Given the description of an element on the screen output the (x, y) to click on. 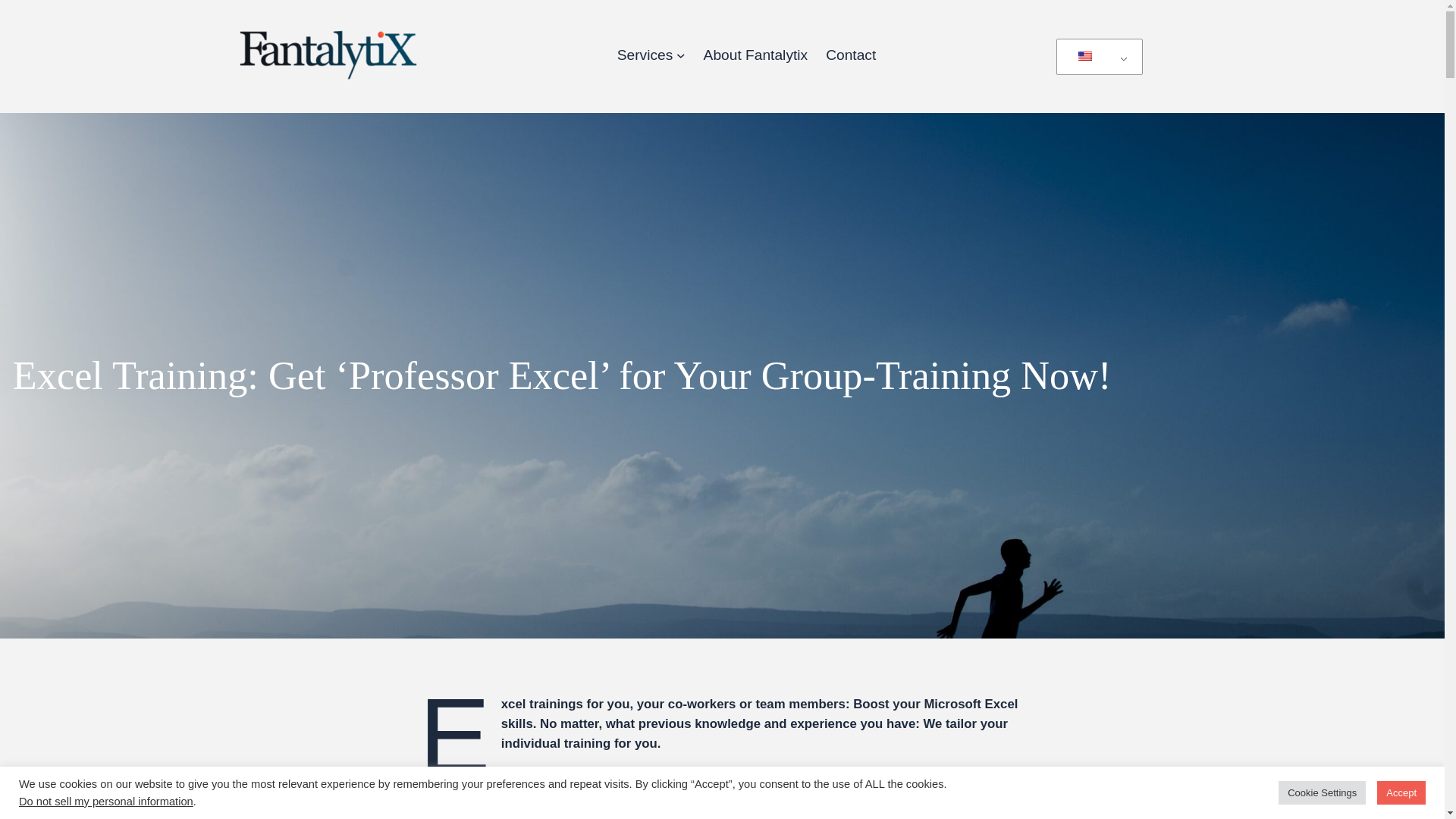
Cookie Settings (1321, 792)
About Fantalytix (755, 55)
English (1095, 57)
Accept (1401, 792)
Contact (850, 55)
Services (644, 55)
English (1085, 55)
Do not sell my personal information (105, 801)
